Given the description of an element on the screen output the (x, y) to click on. 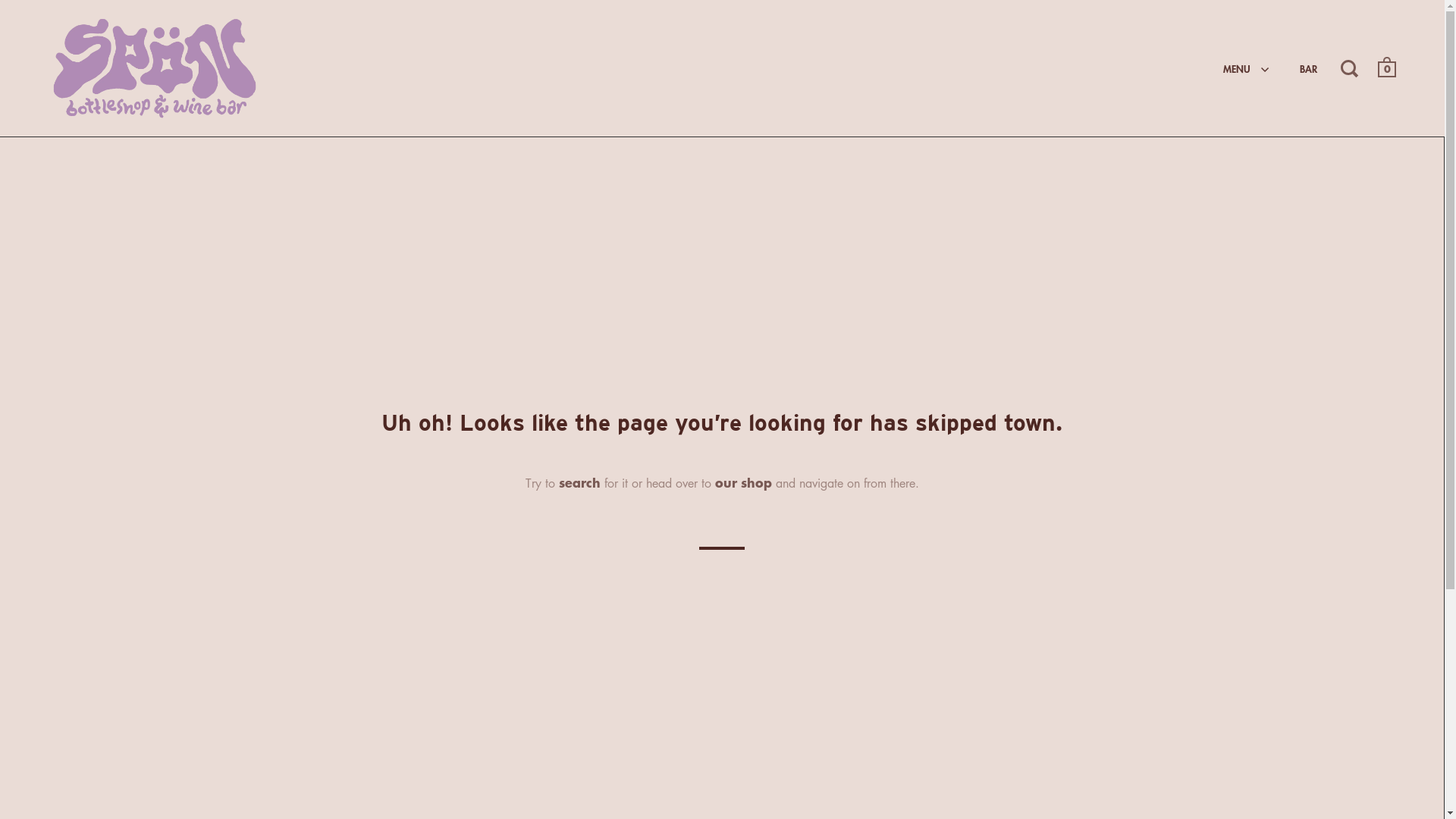
Skip to content Element type: text (0, 136)
search Element type: text (578, 481)
our shop Element type: text (742, 481)
Open search Element type: hover (1350, 67)
0 Element type: text (1386, 69)
MENU Element type: text (1246, 67)
BAR Element type: text (1308, 67)
